Given the description of an element on the screen output the (x, y) to click on. 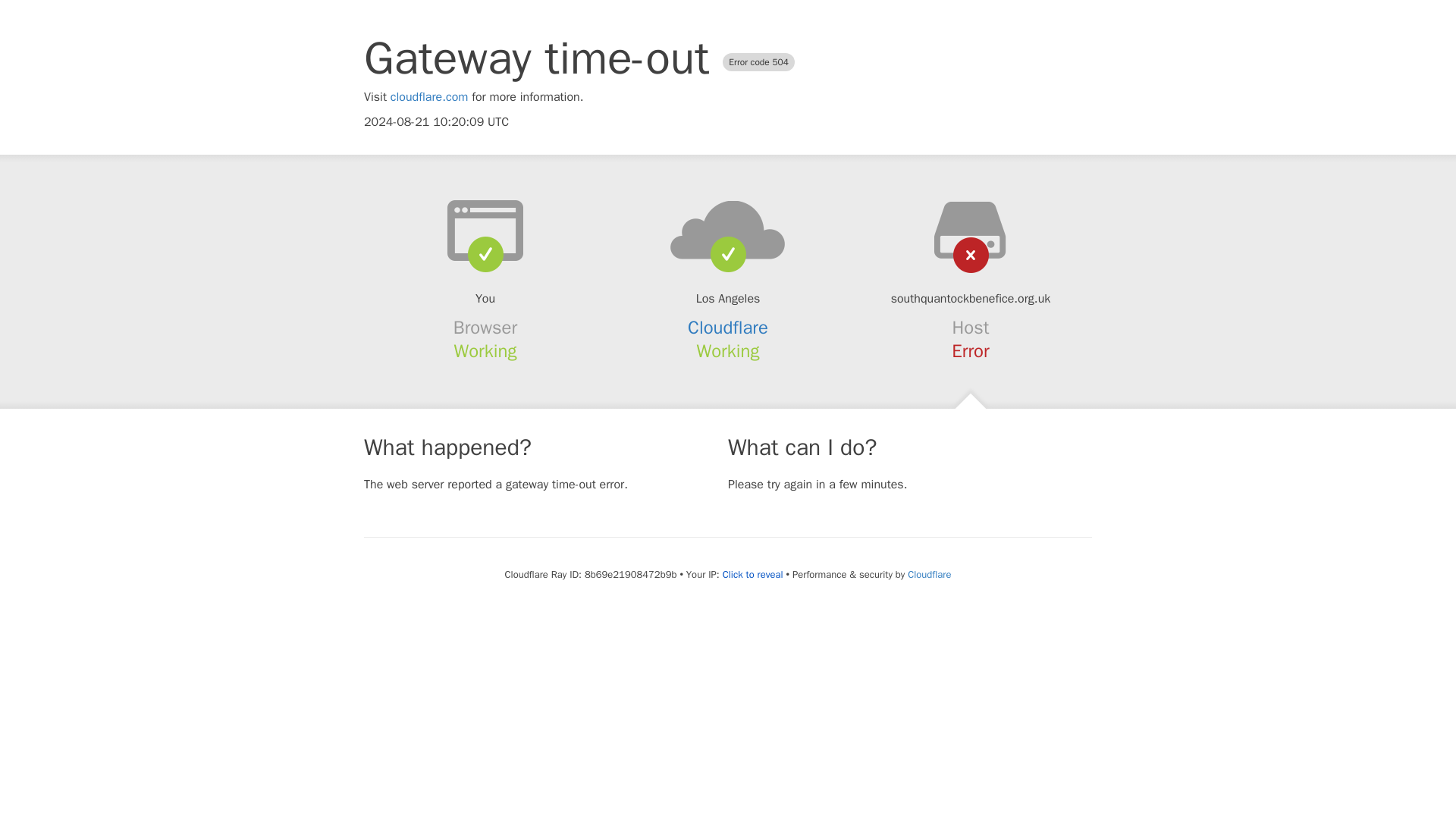
Cloudflare (928, 574)
Click to reveal (752, 574)
cloudflare.com (429, 96)
Cloudflare (727, 327)
